Given the description of an element on the screen output the (x, y) to click on. 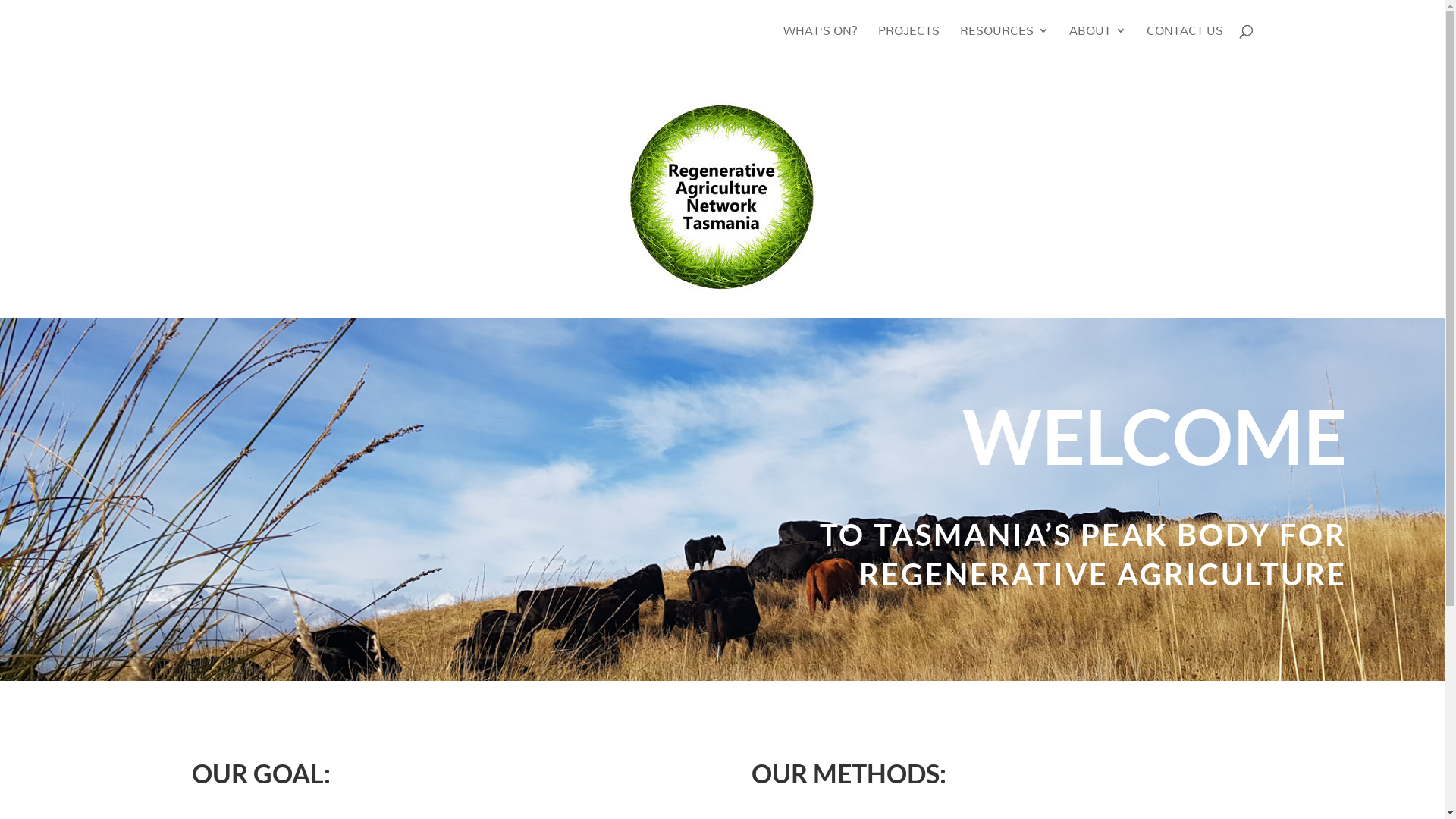
CONTACT US Element type: text (1184, 42)
Logo Small Element type: hover (722, 196)
RESOURCES Element type: text (1004, 42)
PROJECTS Element type: text (908, 42)
ABOUT Element type: text (1097, 42)
